Given the description of an element on the screen output the (x, y) to click on. 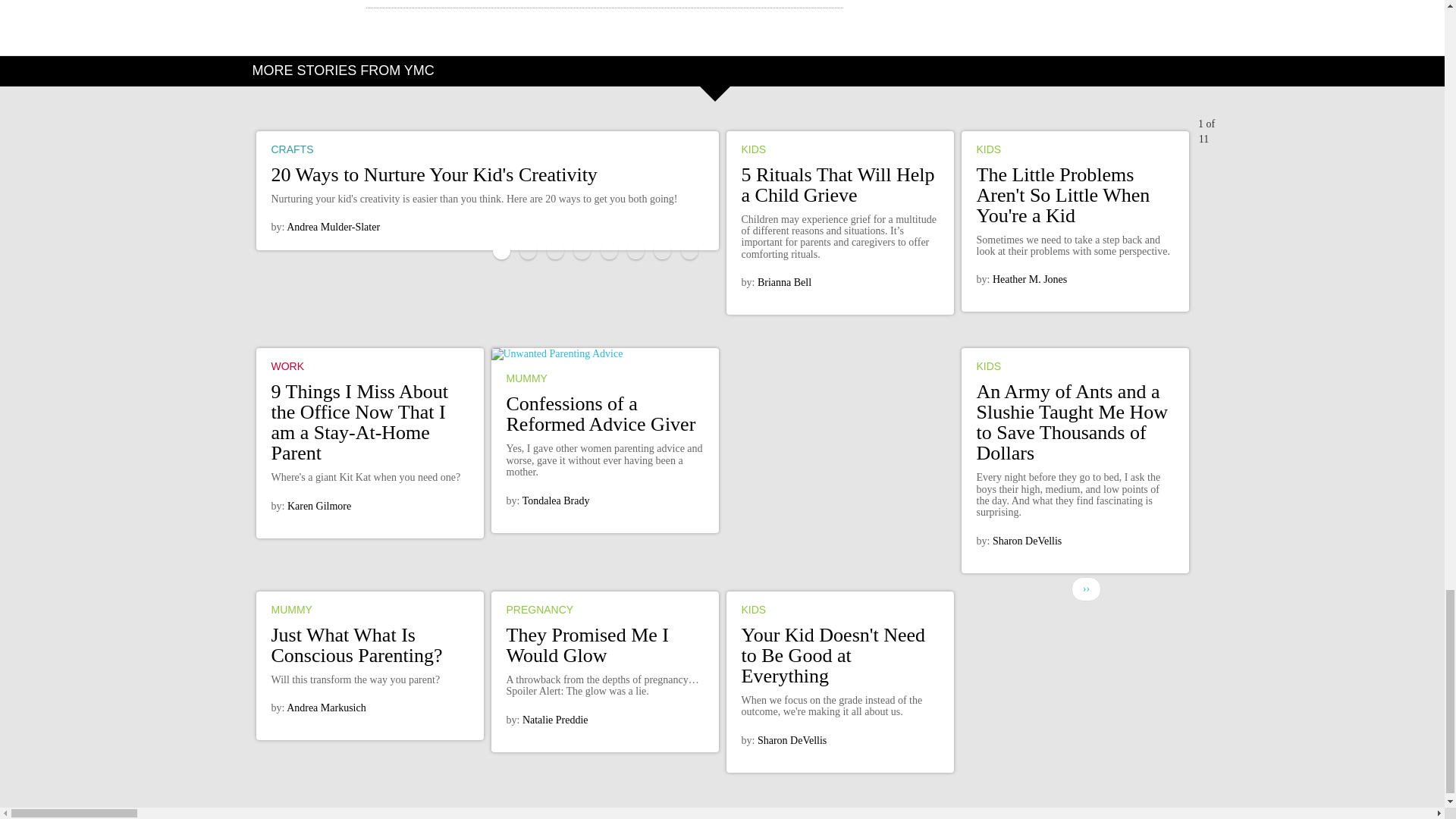
View user profile. (1029, 279)
View user profile. (555, 500)
View user profile. (318, 505)
View user profile. (333, 226)
View user profile. (1026, 541)
View user profile. (783, 282)
